Given the description of an element on the screen output the (x, y) to click on. 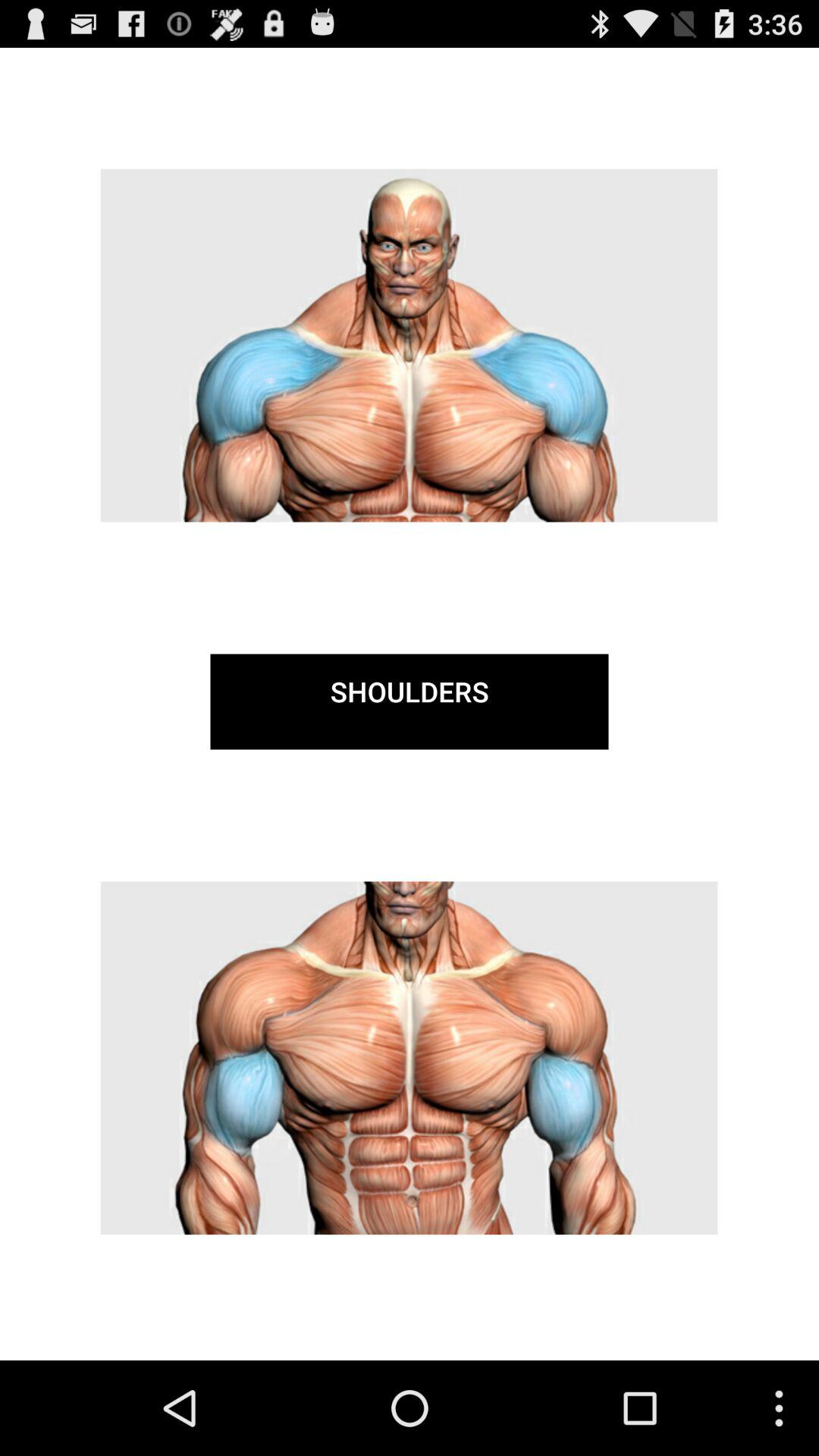
swipe to shoulders item (409, 701)
